Given the description of an element on the screen output the (x, y) to click on. 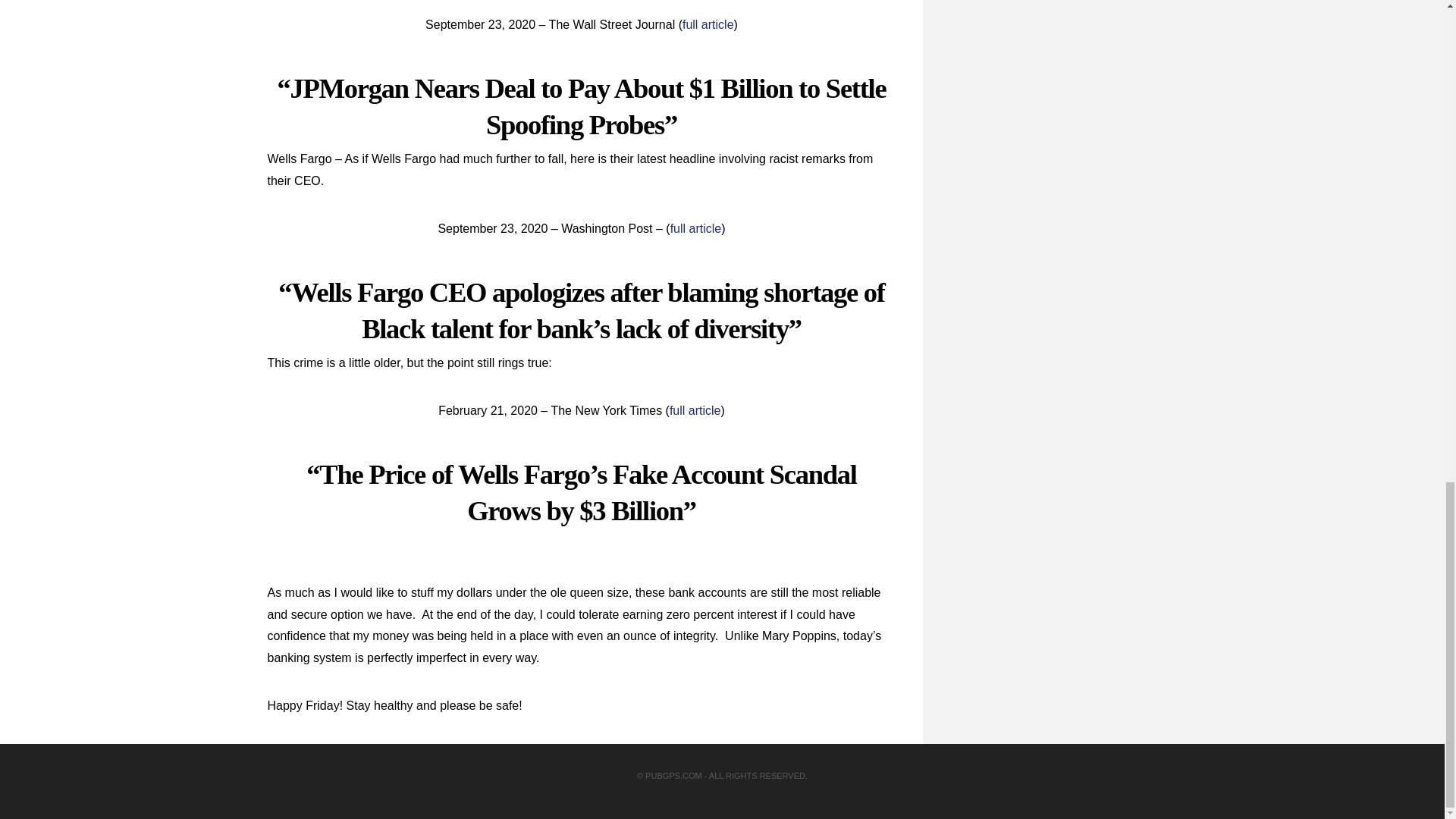
full article (694, 410)
full article (707, 24)
full article (695, 228)
